Given the description of an element on the screen output the (x, y) to click on. 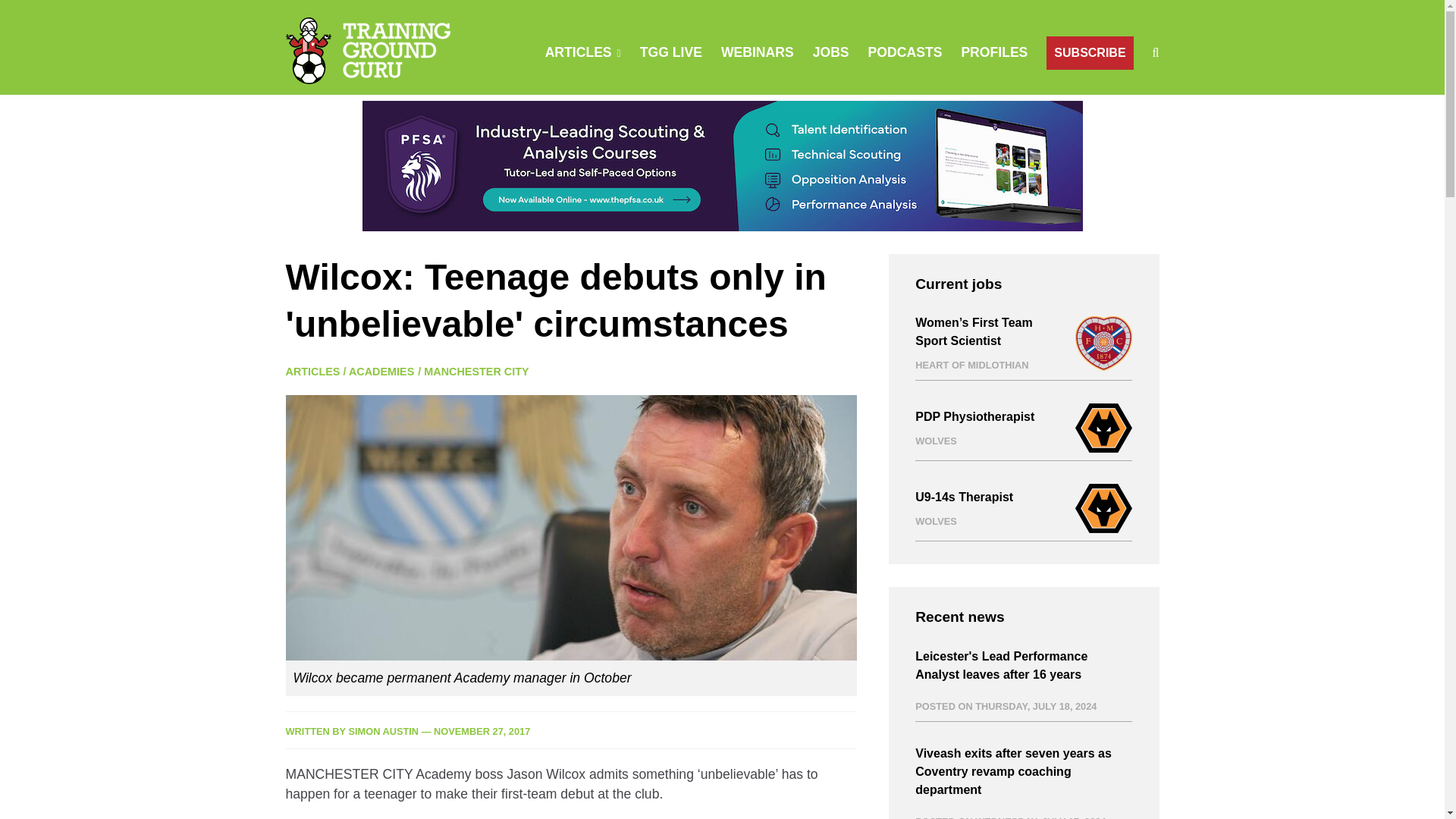
TGG Live 2024 (670, 52)
ACADEMIES (381, 371)
Search (950, 123)
TGG LIVE (670, 52)
JOBS (830, 52)
PROFILES (993, 52)
Submit a job (830, 52)
ARTICLES (312, 371)
Webinars (756, 52)
Podcasts (904, 52)
ARTICLES (577, 52)
WEBINARS (756, 52)
PODCASTS (904, 52)
Profiles (993, 52)
MANCHESTER CITY (475, 371)
